Given the description of an element on the screen output the (x, y) to click on. 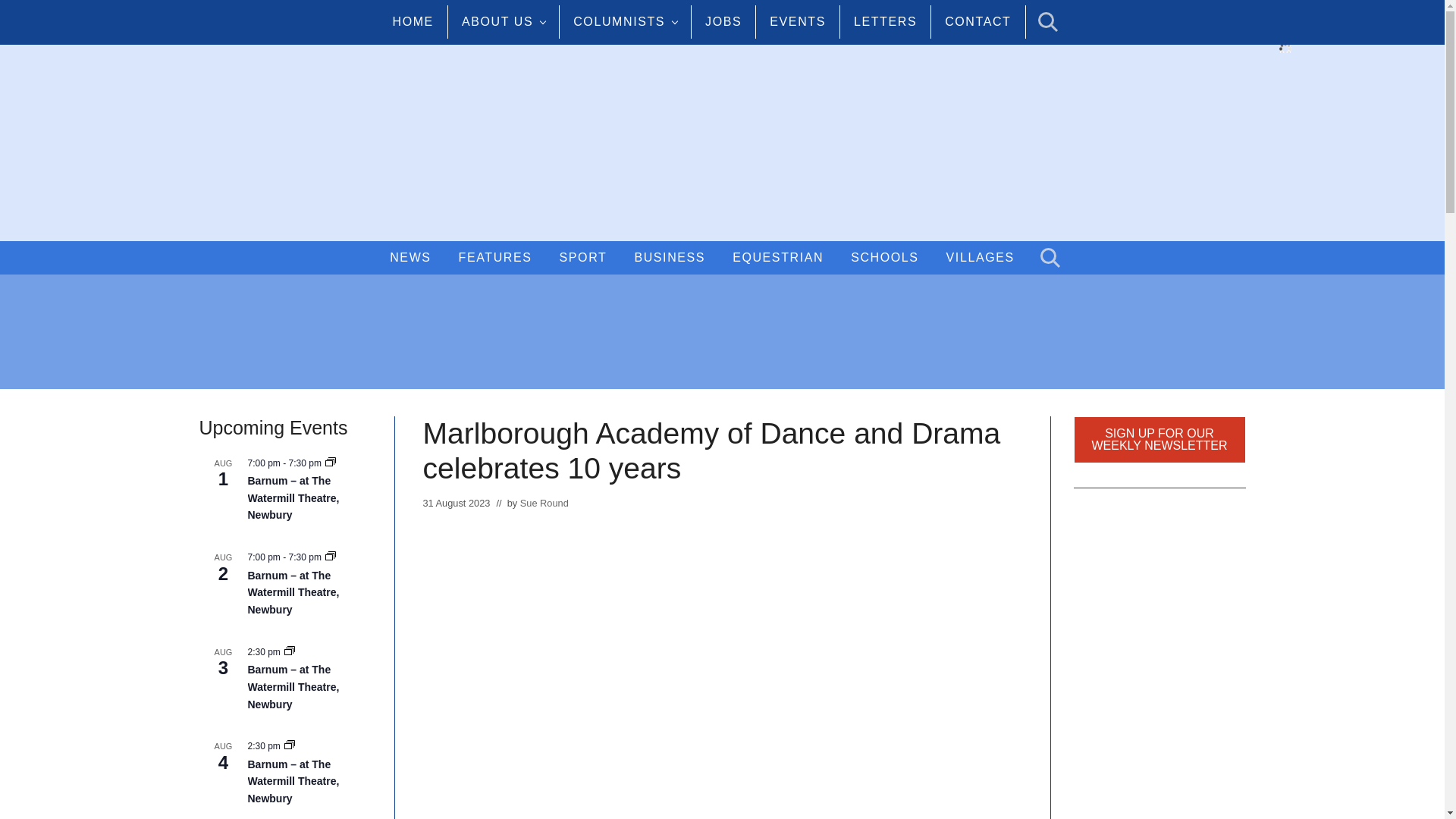
SEARCHSEARCH (1045, 21)
LETTERS (885, 21)
Event Series (330, 462)
HOME (412, 21)
COLUMNISTS (625, 21)
EVENTS (797, 21)
Event Series (289, 746)
ABOUT US (503, 21)
Event Series (289, 652)
JOBS (723, 21)
CONTACT (978, 21)
Event Series (330, 557)
